Given the description of an element on the screen output the (x, y) to click on. 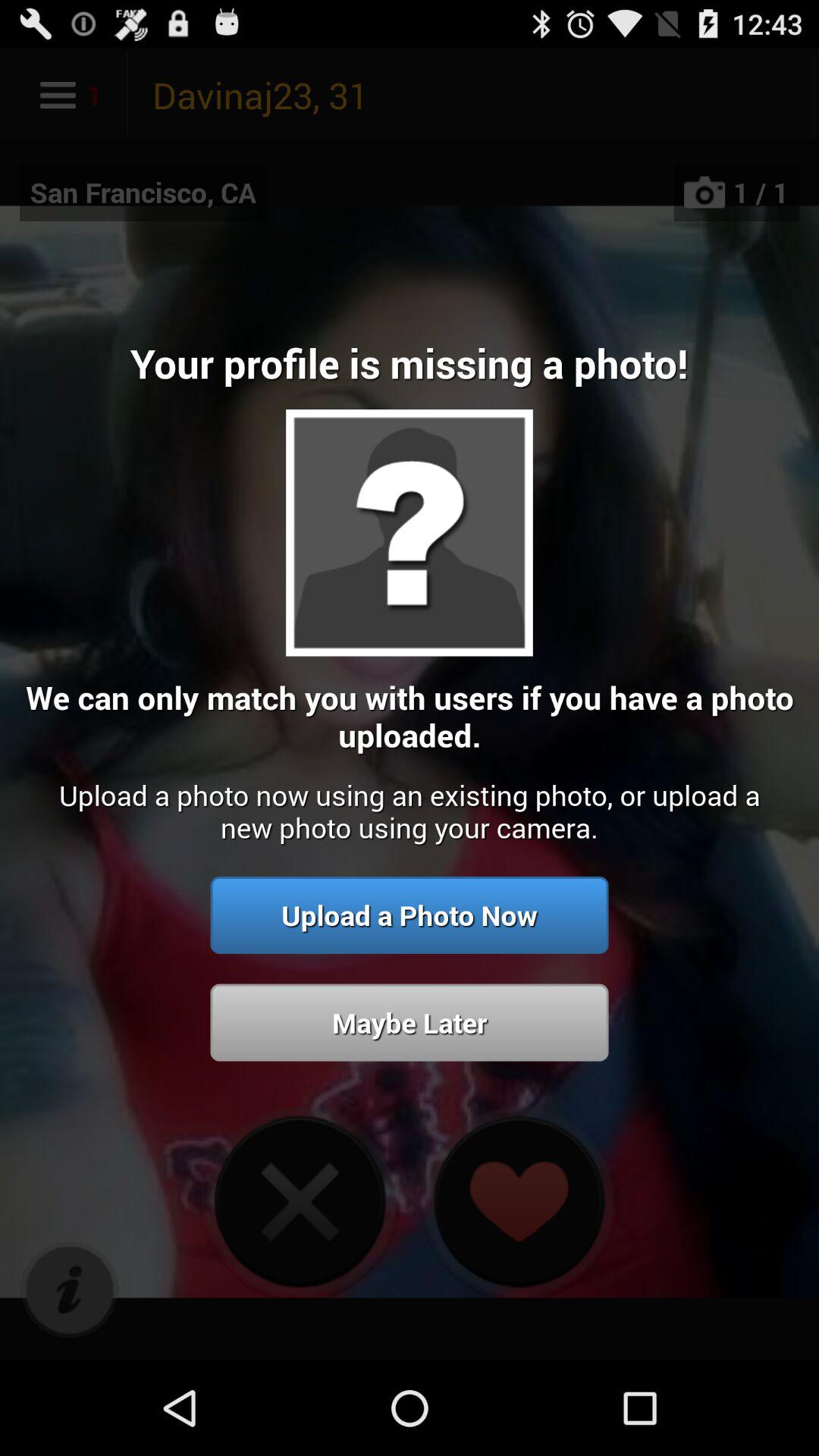
press the icon below the upload a photo item (69, 1290)
